Given the description of an element on the screen output the (x, y) to click on. 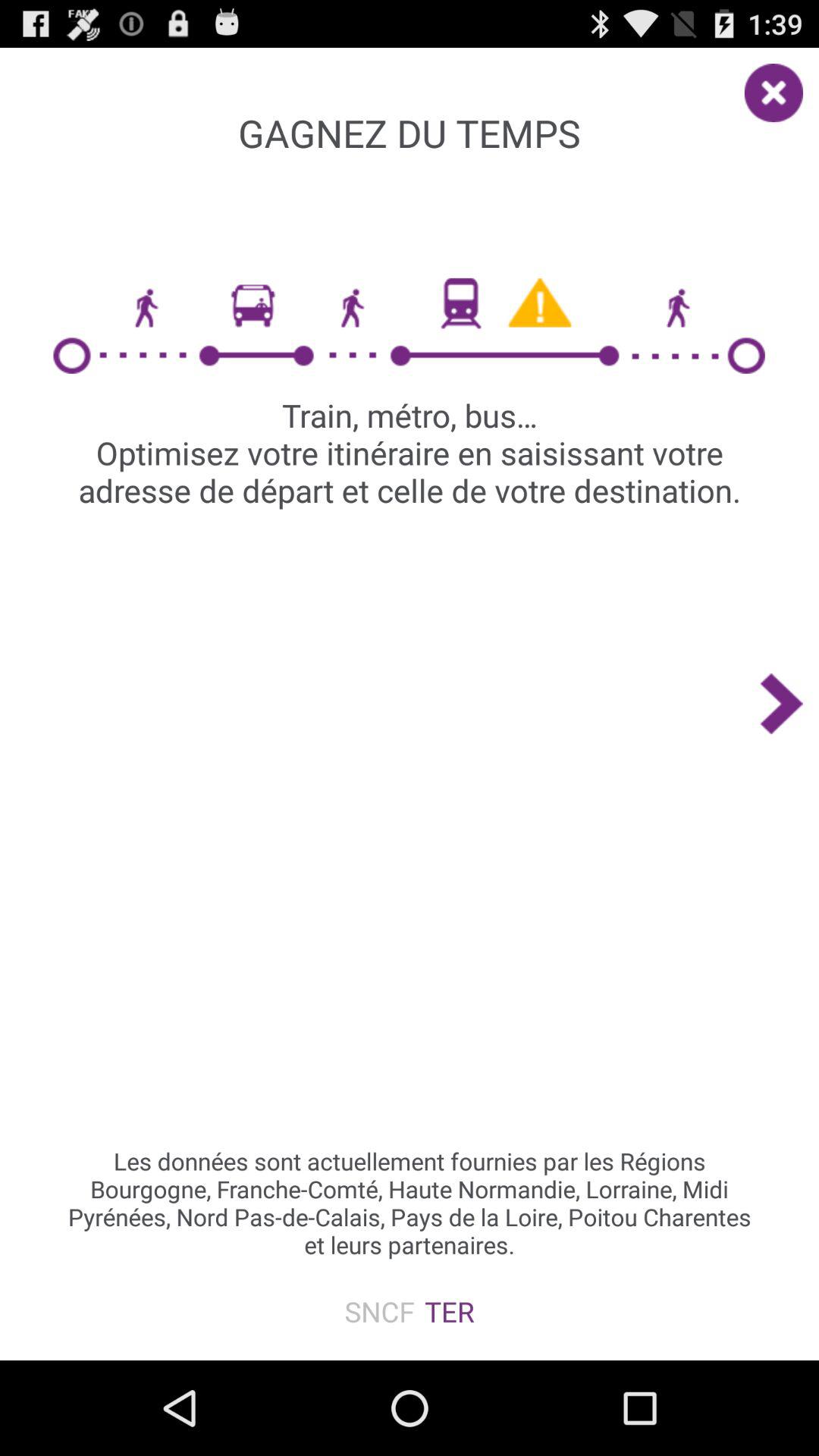
turn off item next to the gagnez du temps (781, 84)
